Given the description of an element on the screen output the (x, y) to click on. 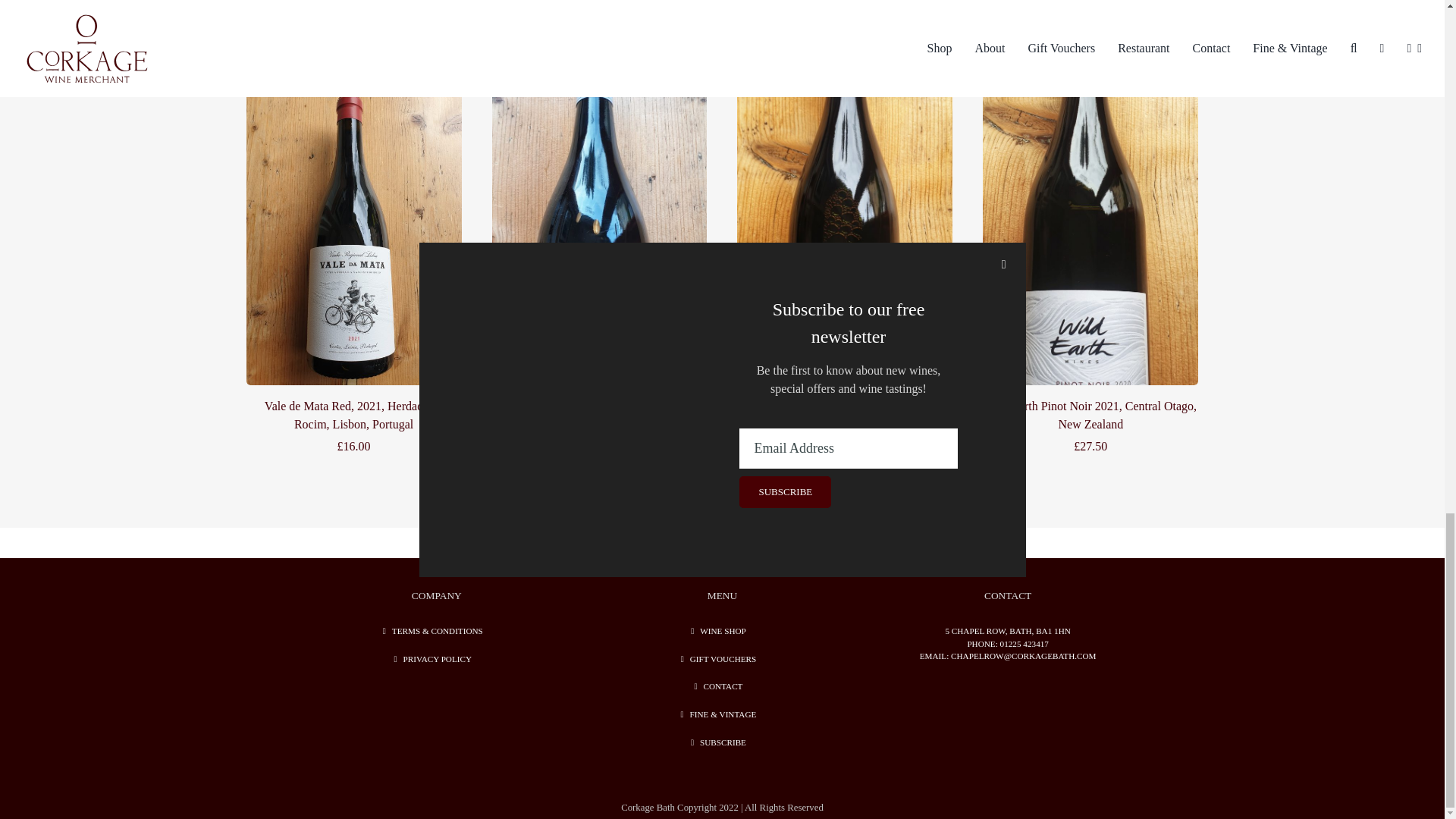
PRIVACY POLICY (437, 658)
